Given the description of an element on the screen output the (x, y) to click on. 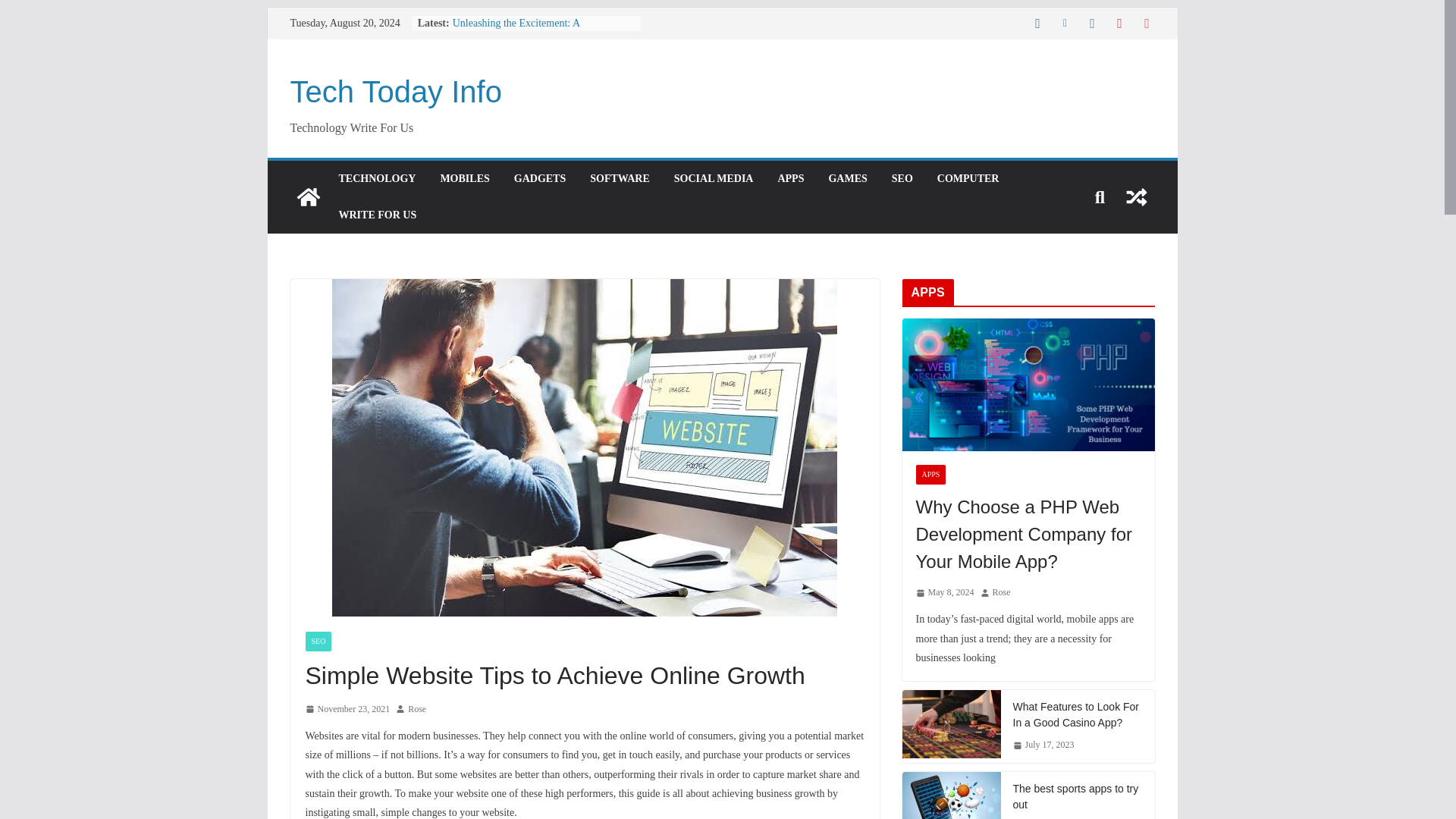
11:41 am (347, 709)
APPS (790, 178)
Tech Today Info (394, 91)
SEO (901, 178)
SOFTWARE (619, 178)
TECHNOLOGY (375, 178)
View a random post (1136, 197)
GAMES (847, 178)
